Given the description of an element on the screen output the (x, y) to click on. 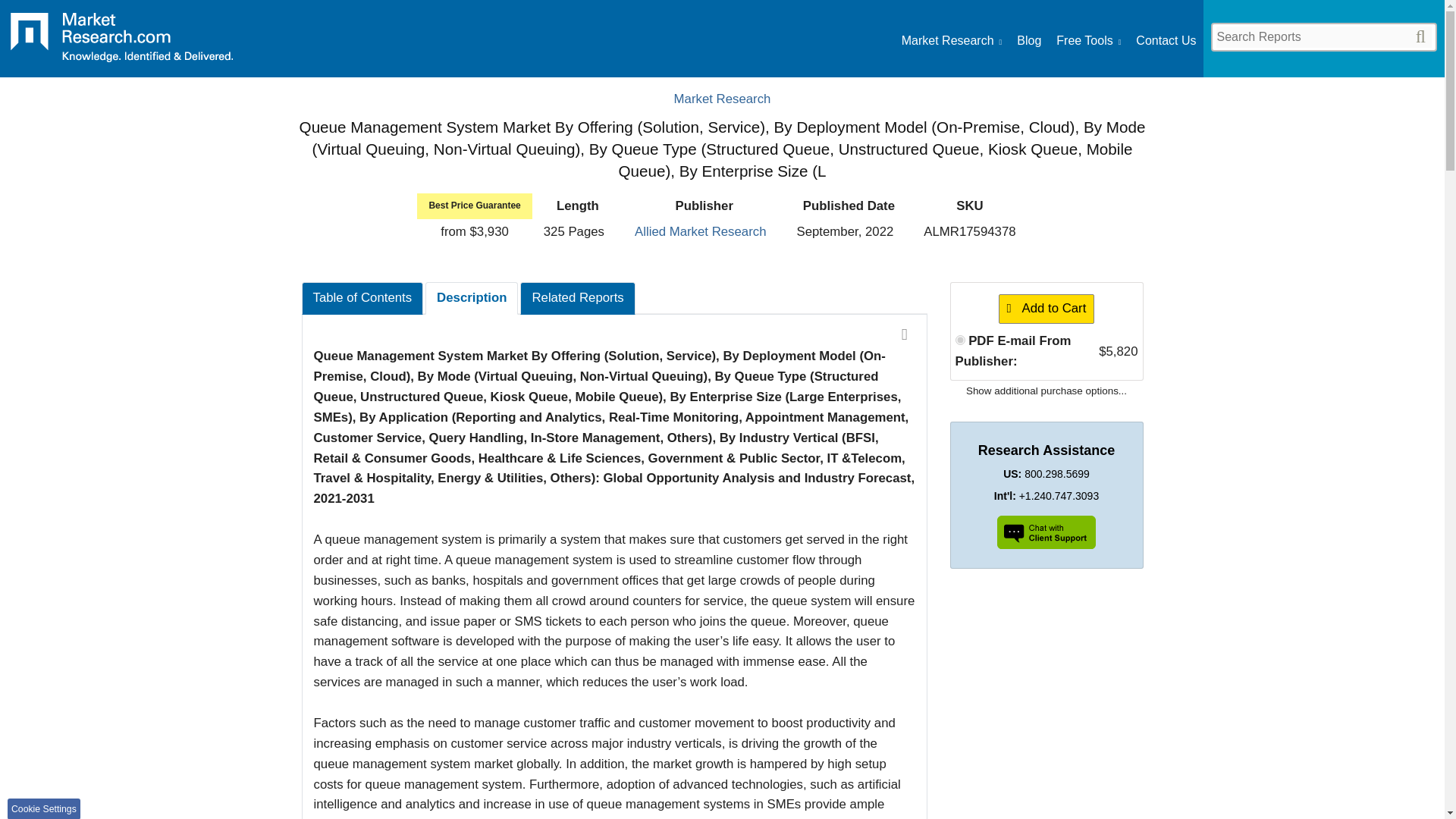
Stay up-to-date on the latest in market research (1028, 40)
Contact Us (1165, 40)
Blog (1028, 40)
Get in touch with MarketResearch.com (1165, 40)
32965150 (960, 339)
Show additional purchase options... (1046, 390)
Related Reports (576, 297)
Table of Contents (362, 297)
Market Research (951, 40)
Description (471, 297)
Market Research (722, 98)
Allied Market Research (699, 231)
Search for specific text within reports (1323, 36)
Learn more about market research with these free tools (1089, 40)
Market Research (121, 42)
